Given the description of an element on the screen output the (x, y) to click on. 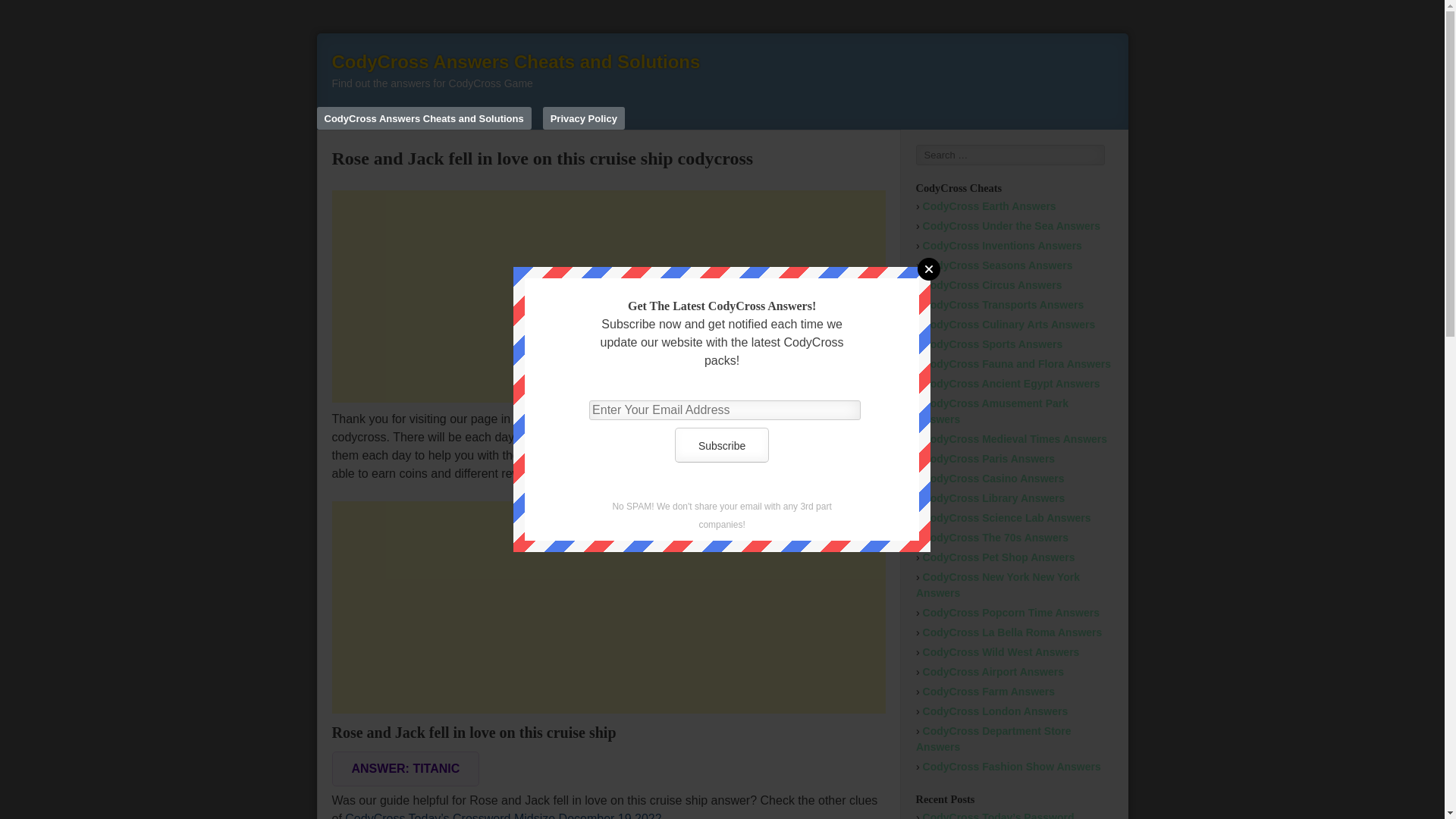
CodyCross Wild West Answers (1001, 652)
CodyCross Answers Cheats and Solutions (515, 61)
CodyCross Earth Answers (990, 205)
CodyCross Seasons Answers (998, 265)
CodyCross Casino Answers (993, 478)
CodyCross Department Store Answers (993, 738)
CodyCross Pet Shop Answers (999, 557)
CodyCross Sports Answers (992, 344)
CodyCross Fashion Show Answers (1011, 766)
CodyCross Transports Answers (1003, 304)
CodyCross Circus Answers (992, 285)
CodyCross Airport Answers (993, 671)
Advertisement (608, 295)
CodyCross Ancient Egypt Answers (1011, 383)
CodyCross Library Answers (994, 498)
